Given the description of an element on the screen output the (x, y) to click on. 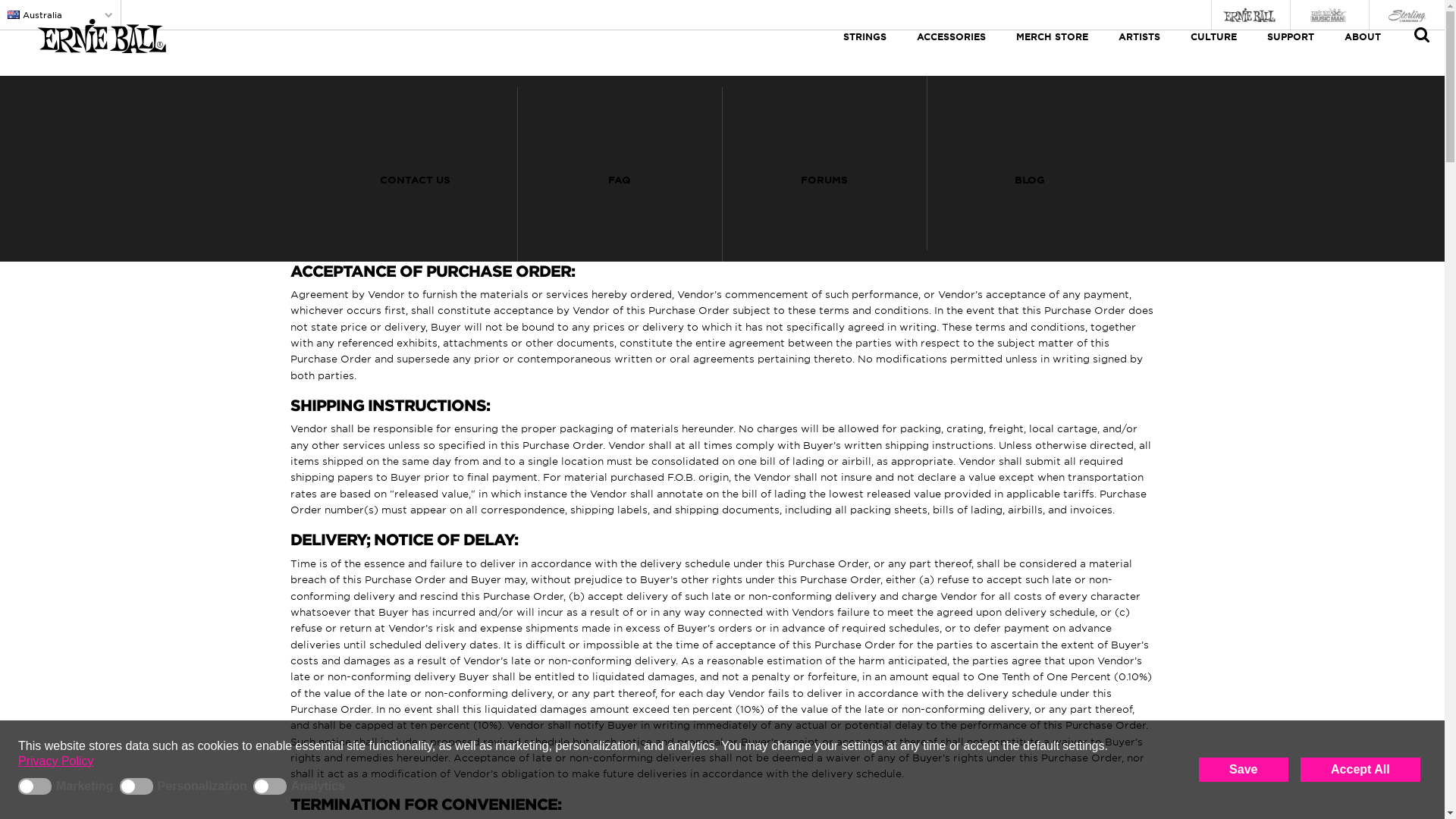
Privacy Policy Element type: text (56, 760)
ERNIE BALL
FACE MASKS Element type: text (1028, 163)
ARTISTS Element type: text (1139, 45)
MERCH STORE Element type: text (1052, 45)
FORUMS Element type: text (823, 168)
ERNIE BALL
CLOTHING Element type: text (414, 163)
ELECTRIC
STRINGS Element type: text (312, 163)
BASS
STRINGS Element type: text (722, 163)
Save Element type: text (1243, 769)
Accept All Element type: text (1360, 769)
CLASSICAL
STRINGS Element type: text (927, 163)
CONTACT US Element type: text (414, 174)
OTHER
STRINGS Element type: text (1131, 163)
ABOUT Element type: text (1362, 45)
ERNIE BALL
MERCHANDISE Element type: text (823, 163)
STRINGS Element type: text (864, 45)
SUPPORT Element type: text (1290, 45)
CULTURE Element type: text (1213, 45)
ERNIE BALL
HATS Element type: text (619, 163)
ACCESSORIES Element type: text (951, 45)
FAQ Element type: text (619, 174)
ACOUSTIC
STRINGS Element type: text (517, 163)
BLOG Element type: text (1028, 168)
